Given the description of an element on the screen output the (x, y) to click on. 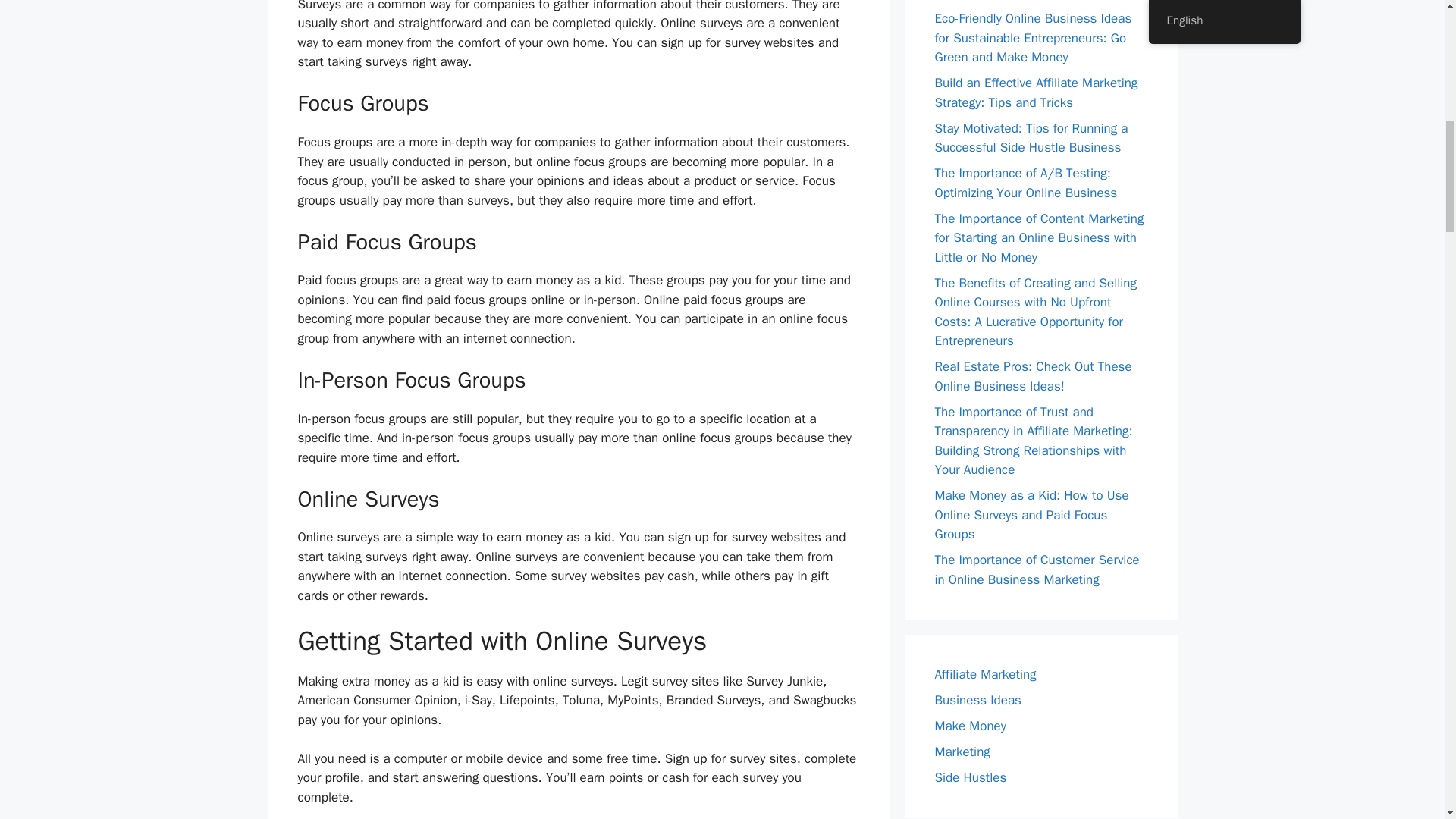
Affiliate Marketing (984, 674)
Marketing (962, 751)
Make Money (970, 725)
Business Ideas (977, 700)
